Given the description of an element on the screen output the (x, y) to click on. 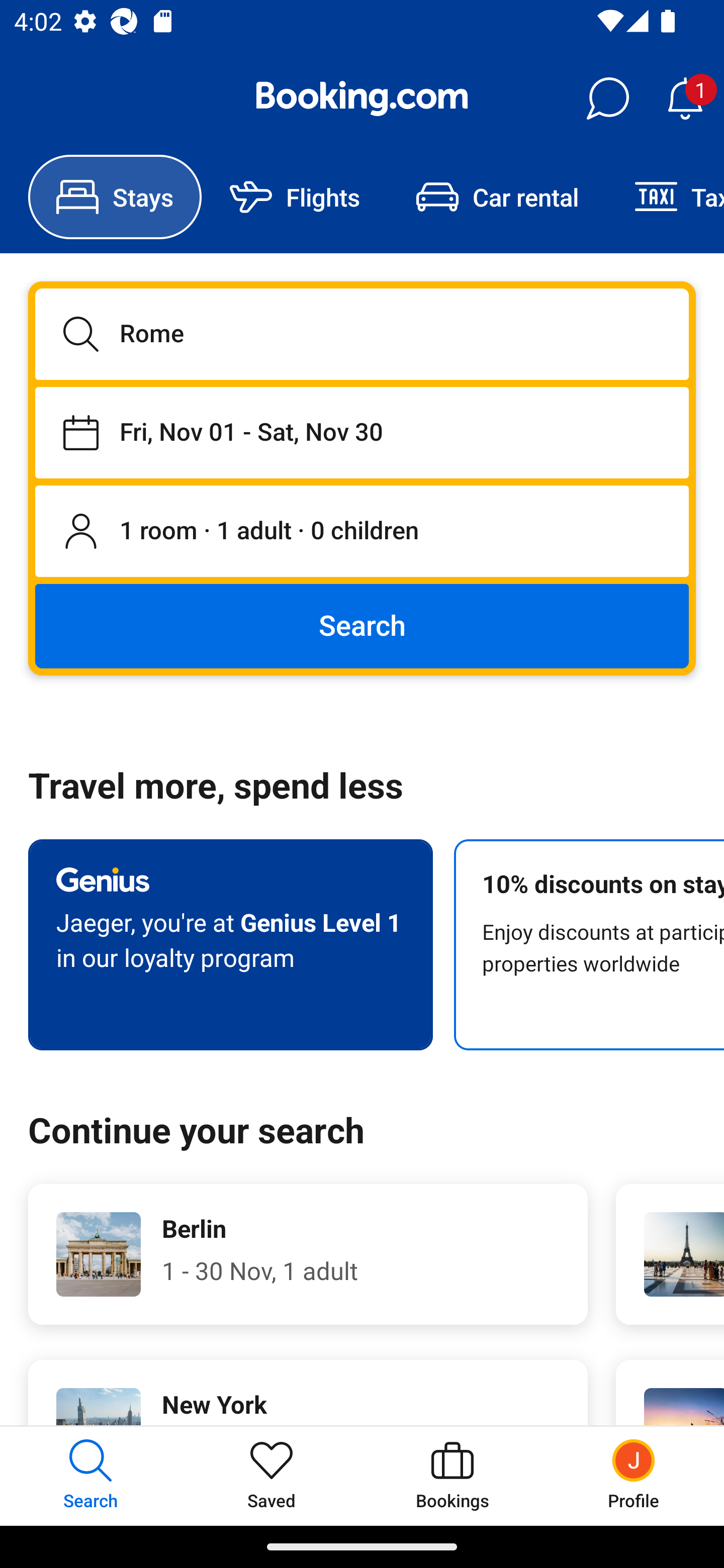
Messages (607, 98)
Notifications (685, 98)
Stays (114, 197)
Flights (294, 197)
Car rental (497, 197)
Taxi (665, 197)
Rome (361, 333)
Staying from Fri, Nov 01 until Sat, Nov 30 (361, 432)
1 room, 1 adult, 0 children (361, 531)
Search (361, 625)
Berlin 1 - 30 Nov, 1 adult (307, 1253)
Saved (271, 1475)
Bookings (452, 1475)
Profile (633, 1475)
